Given the description of an element on the screen output the (x, y) to click on. 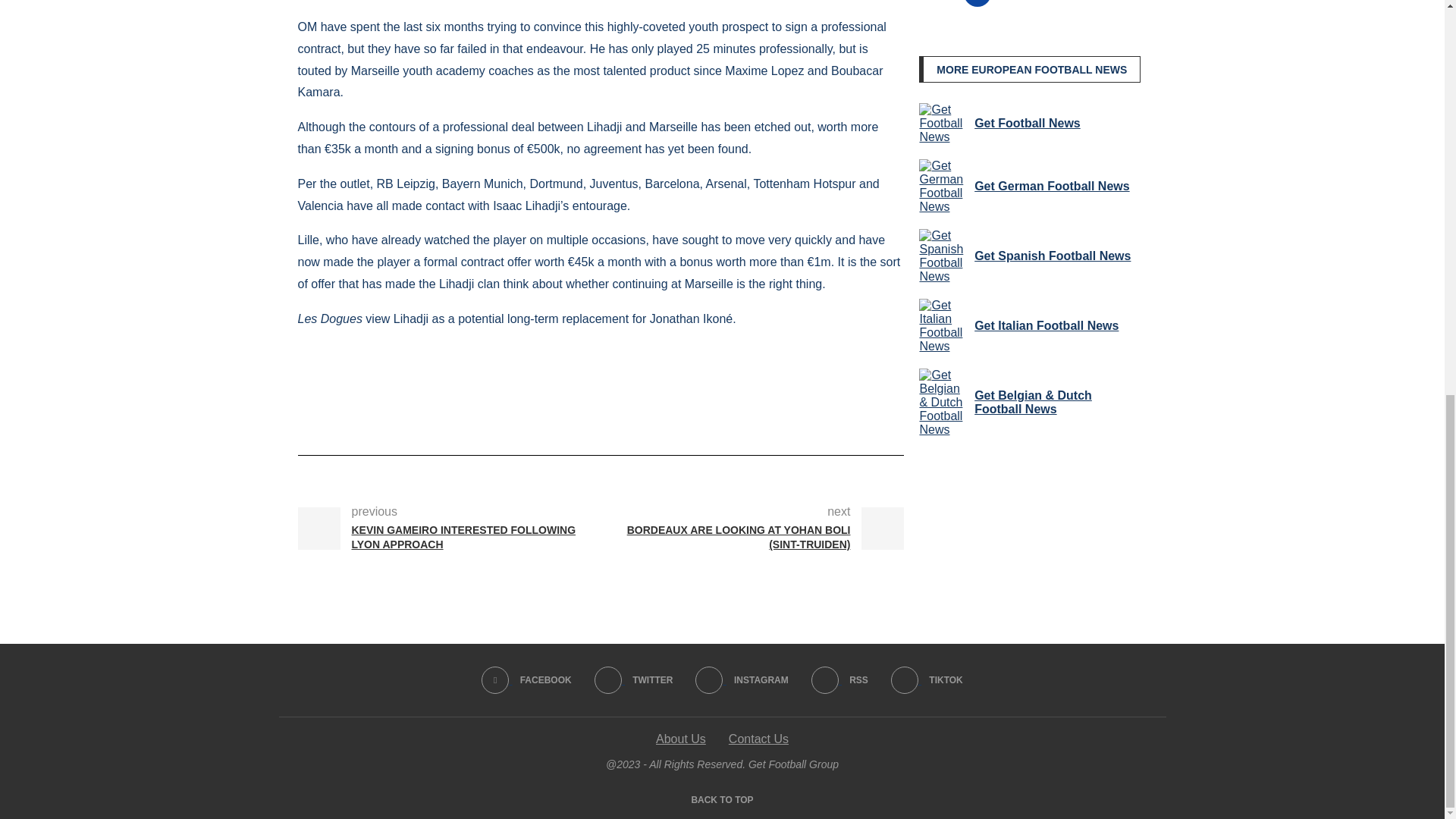
Get Spanish Football News (943, 279)
Get Football News (943, 149)
Get German Football News (943, 214)
Get Italian Football News (943, 344)
